Given the description of an element on the screen output the (x, y) to click on. 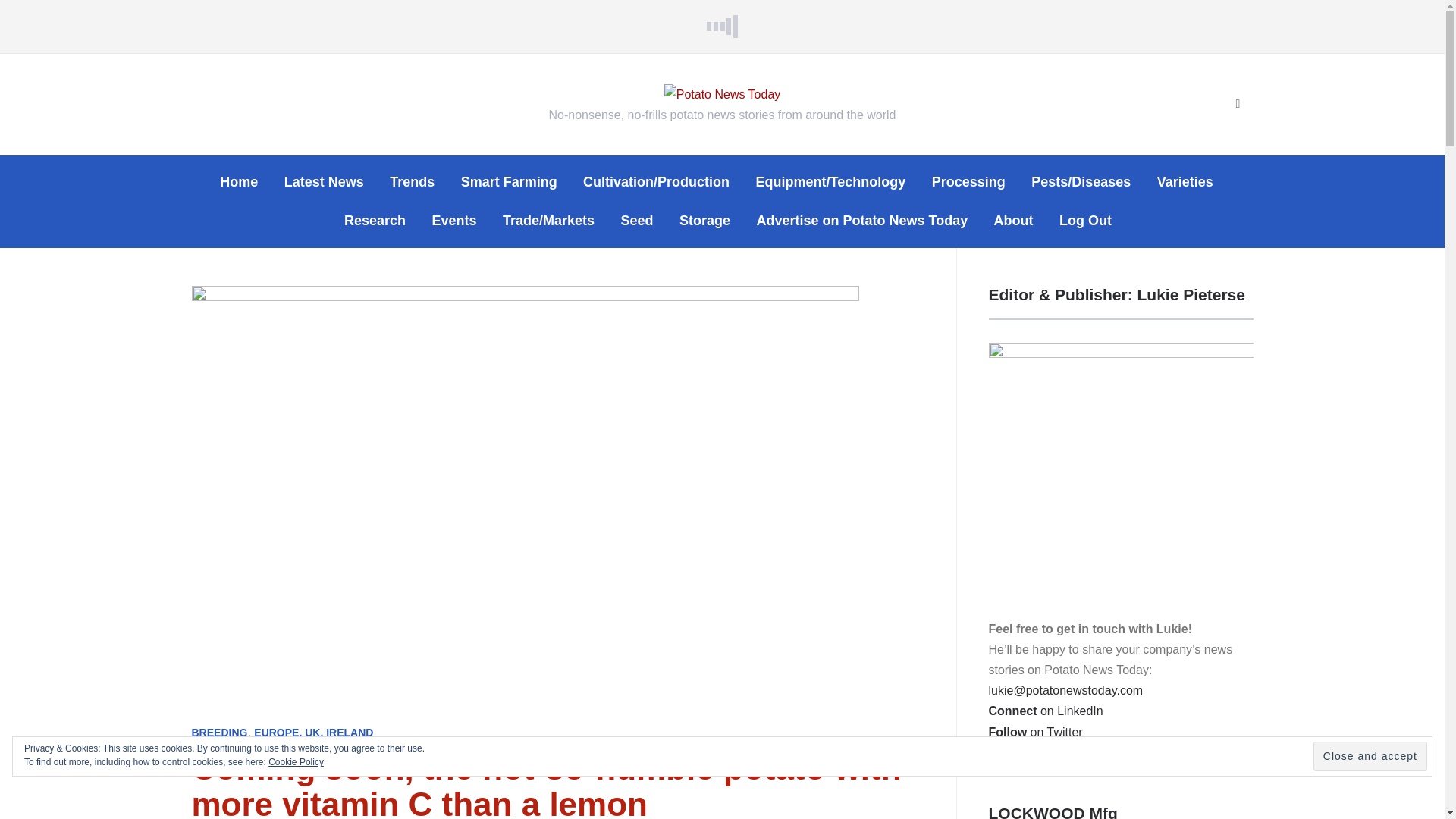
Varieties (1184, 181)
Close and accept (1369, 756)
Trends (411, 181)
Home (238, 181)
Processing (968, 181)
Search (1237, 104)
Latest News (323, 181)
Smart Farming (509, 181)
